Given the description of an element on the screen output the (x, y) to click on. 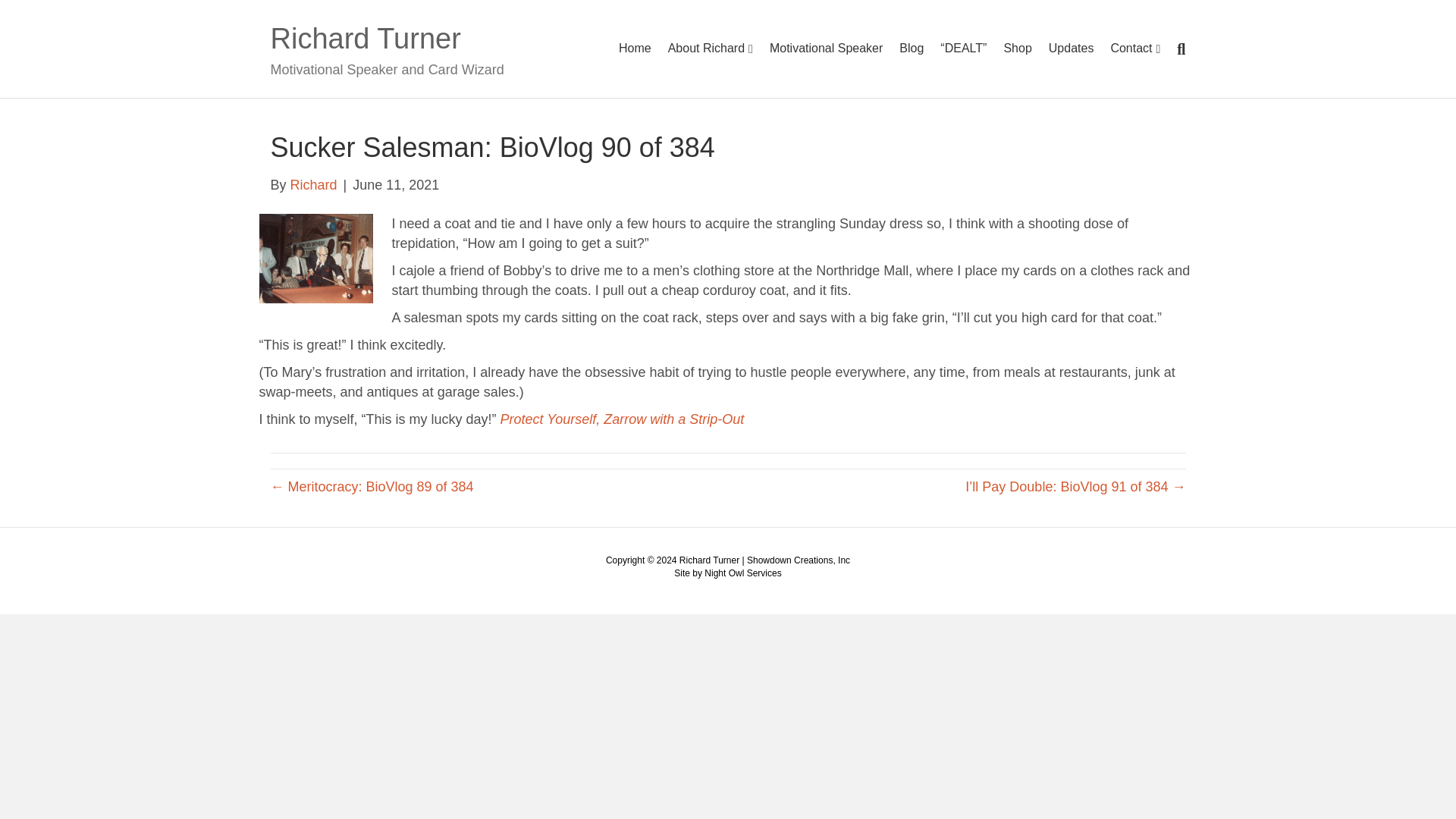
Protect Yourself, Zarrow with a Strip-Out (622, 418)
Updates (1071, 47)
Contact (1135, 48)
Home (634, 47)
Blog (911, 47)
Richard Turner (416, 38)
Sucker Salesman: BioVlog 90 of 384 (315, 256)
Motivational Speaker (826, 47)
Shop (1016, 47)
Richard (313, 184)
